Given the description of an element on the screen output the (x, y) to click on. 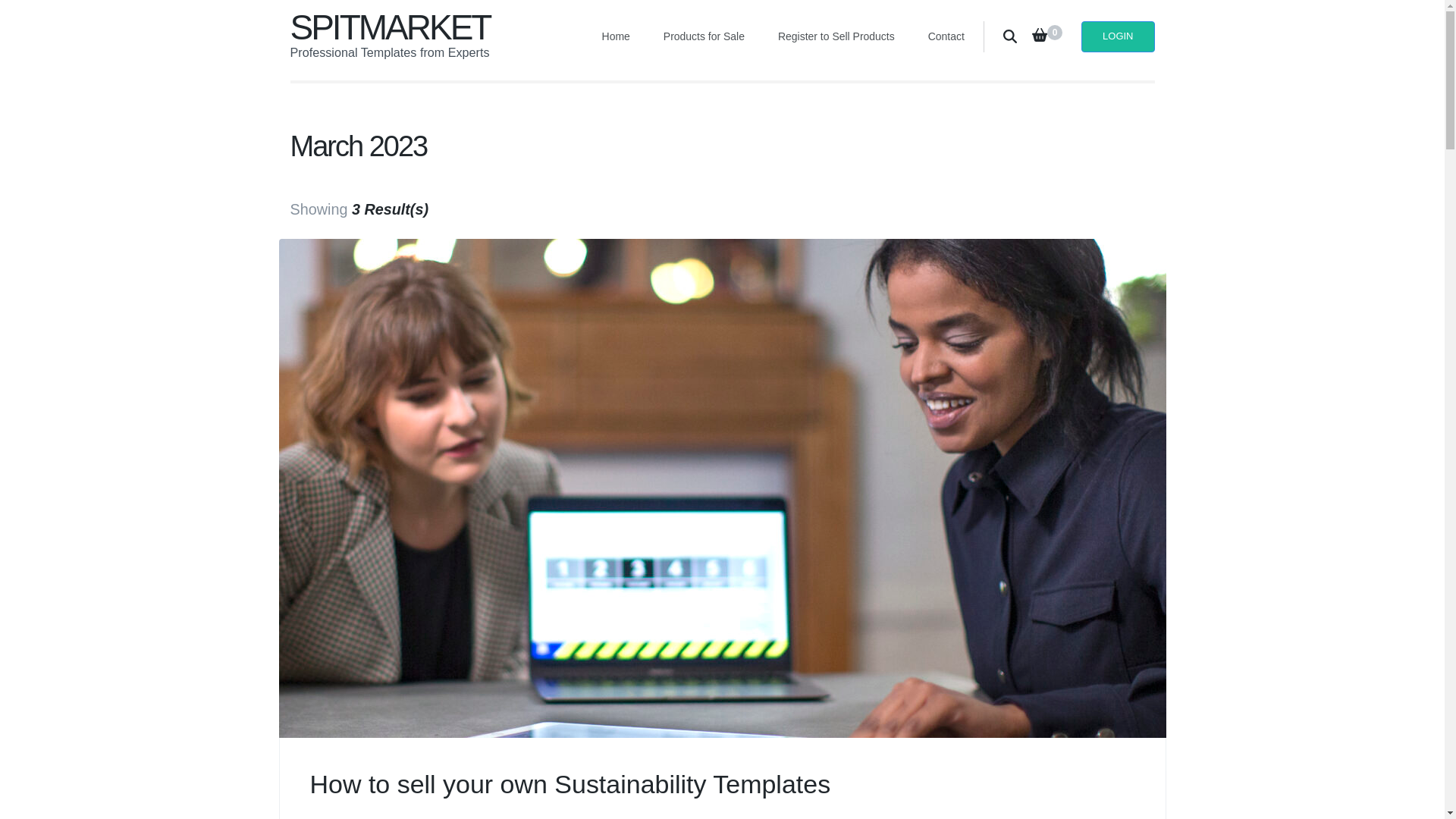
How to sell your own Sustainability Templates (568, 783)
LOGIN (1117, 36)
Products for Sale (703, 36)
0 (1047, 35)
SPITMARKET (389, 26)
Register to Sell Products (836, 36)
Contact (945, 36)
Home (616, 36)
